Given the description of an element on the screen output the (x, y) to click on. 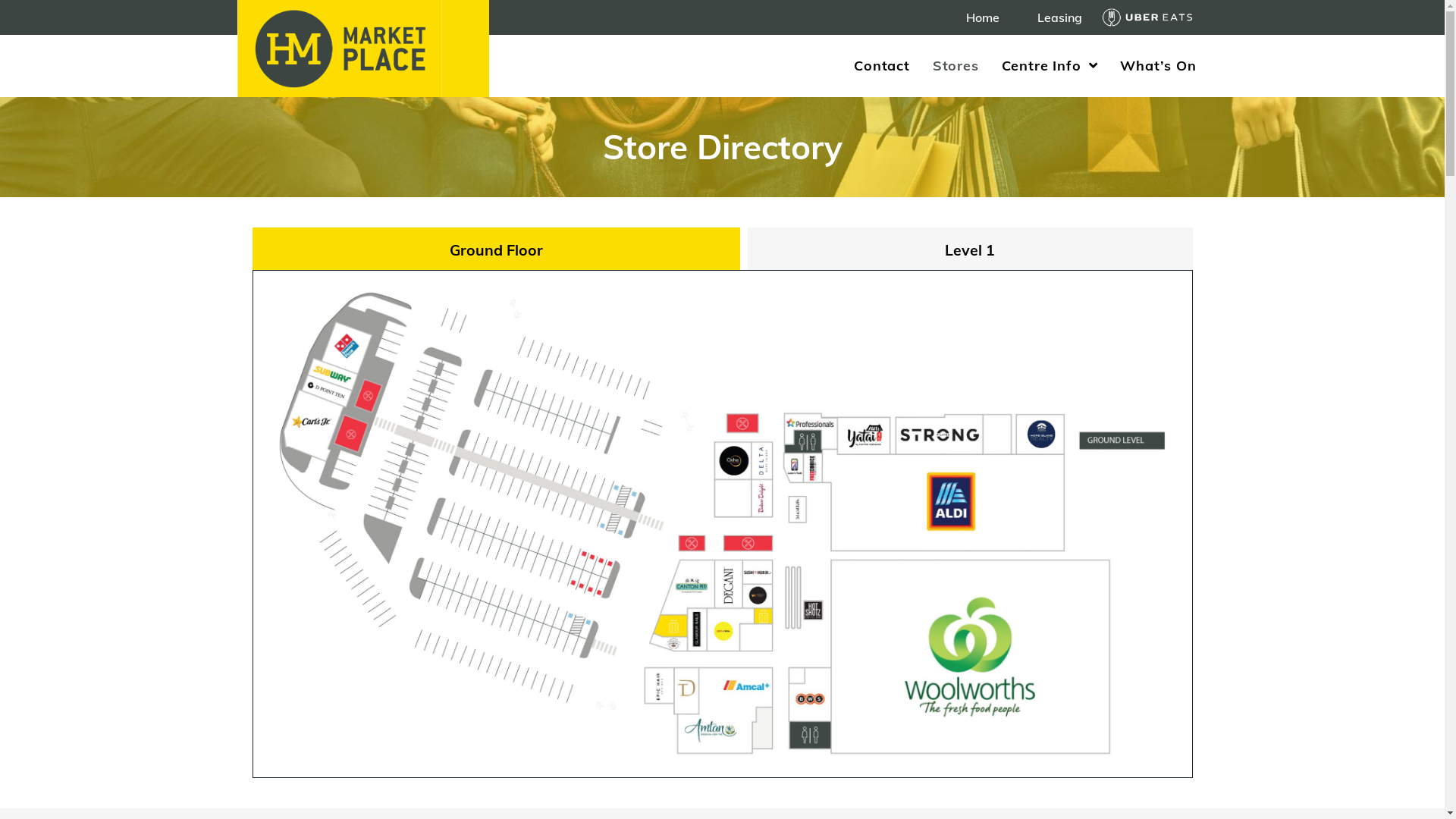
Stores Element type: text (955, 65)
Leasing Element type: text (1059, 17)
Centre Info Element type: text (1049, 65)
Skip to primary navigation Element type: text (0, 0)
Contact Element type: text (881, 65)
Ground Floor Element type: text (495, 248)
uber-eats-white Element type: hover (1146, 17)
Level 1 Element type: text (969, 248)
Home Element type: text (982, 17)
